Given the description of an element on the screen output the (x, y) to click on. 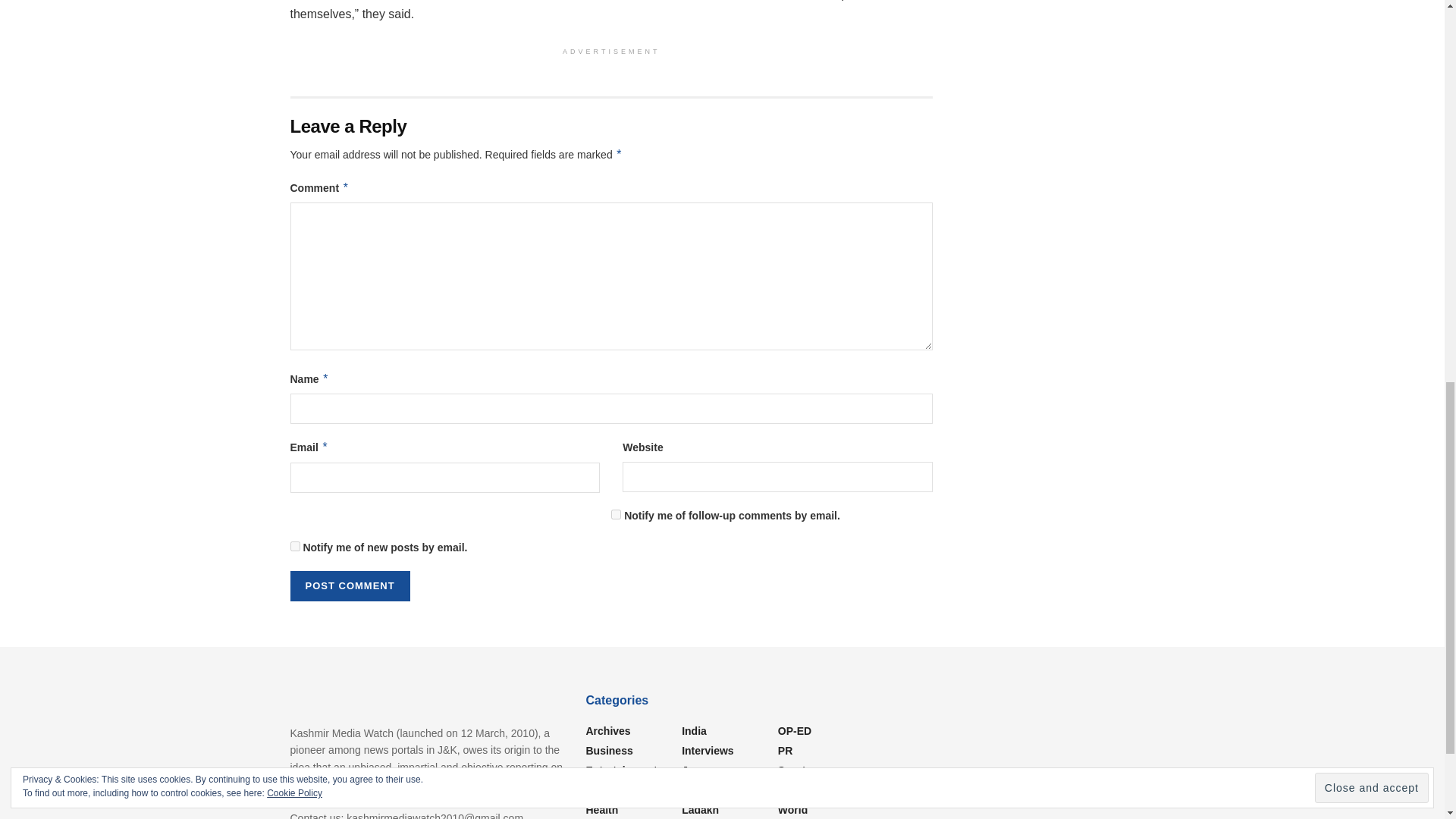
subscribe (616, 514)
subscribe (294, 546)
Post Comment (349, 585)
